Given the description of an element on the screen output the (x, y) to click on. 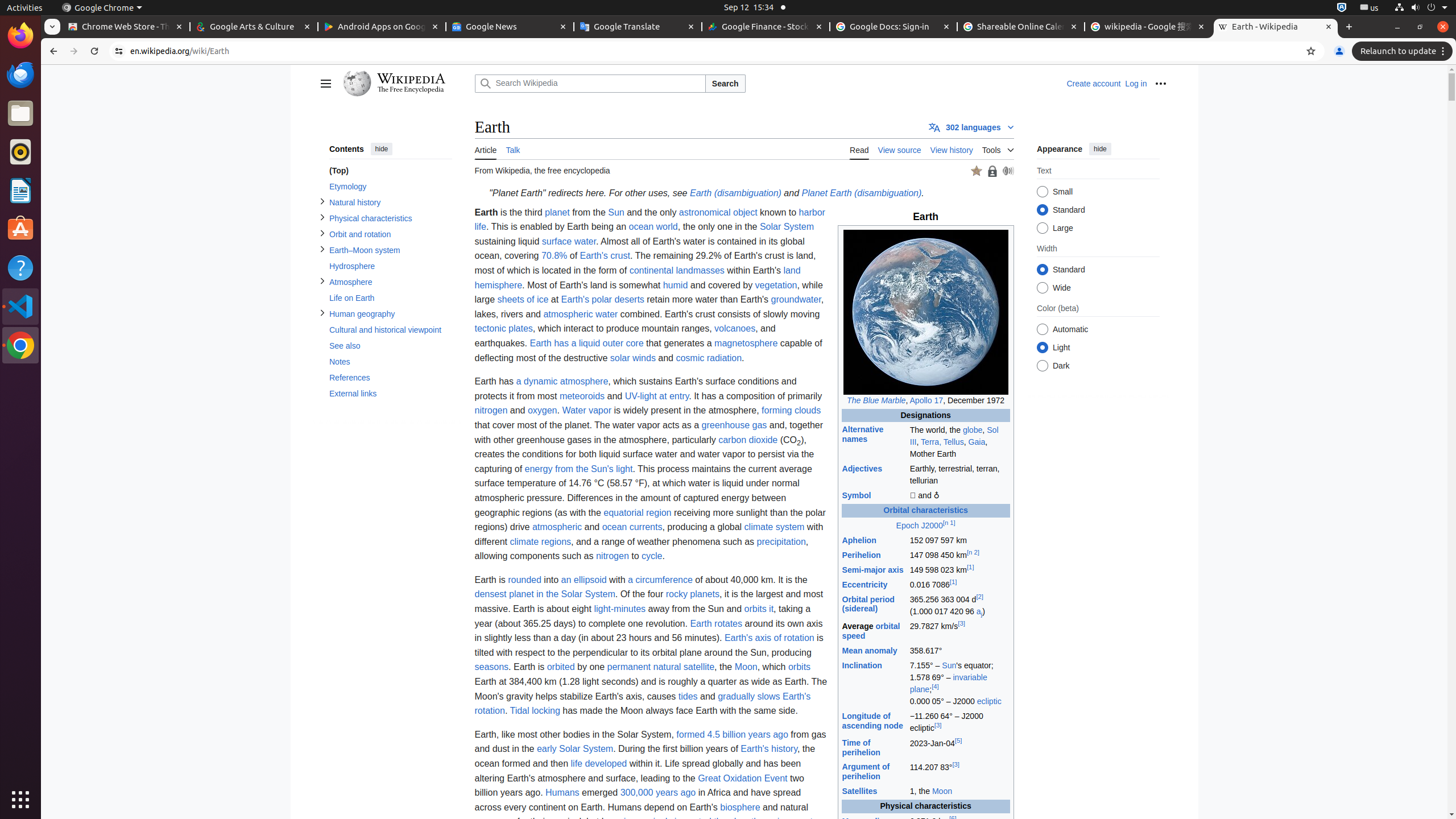
cosmic radiation Element type: link (708, 357)
rocky planets Element type: link (692, 594)
The Blue Marble Element type: link (876, 399)
gradually slows Earth's rotation Element type: link (642, 703)
[3] Element type: link (961, 623)
